Given the description of an element on the screen output the (x, y) to click on. 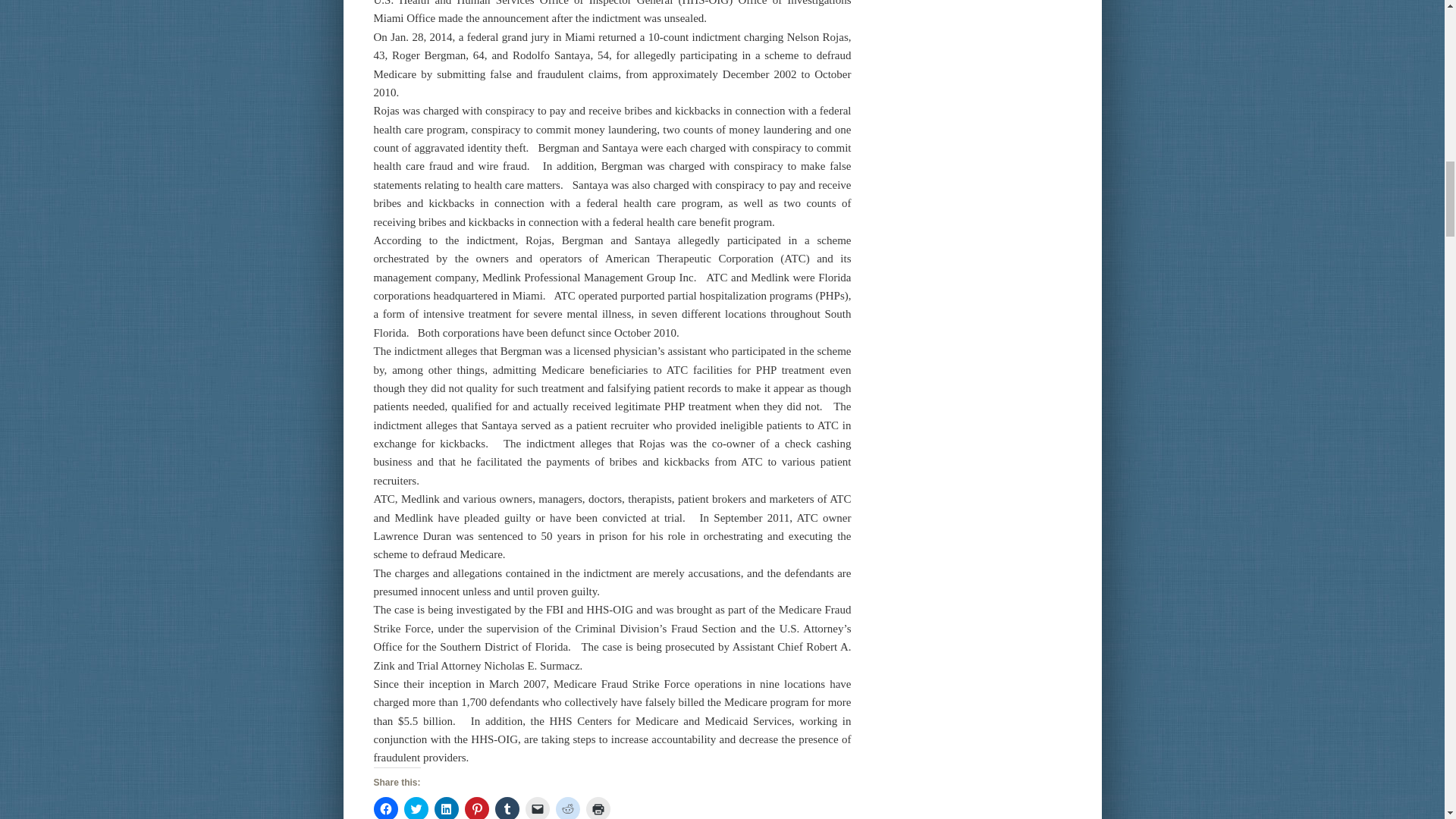
Click to share on Twitter (415, 807)
Click to share on LinkedIn (445, 807)
Click to share on Facebook (384, 807)
